Given the description of an element on the screen output the (x, y) to click on. 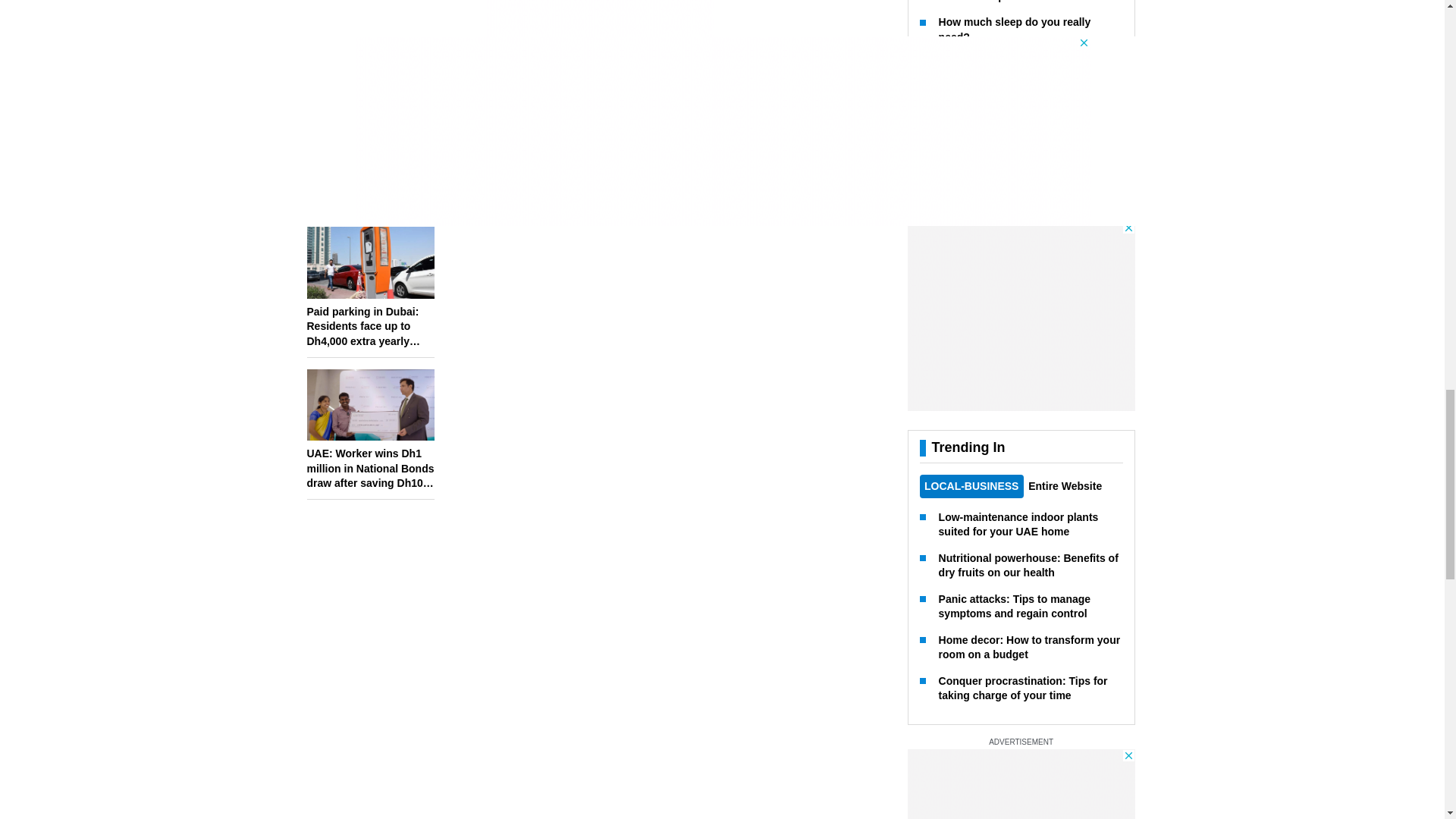
3rd party ad content (1021, 12)
3rd party ad content (599, 62)
